Given the description of an element on the screen output the (x, y) to click on. 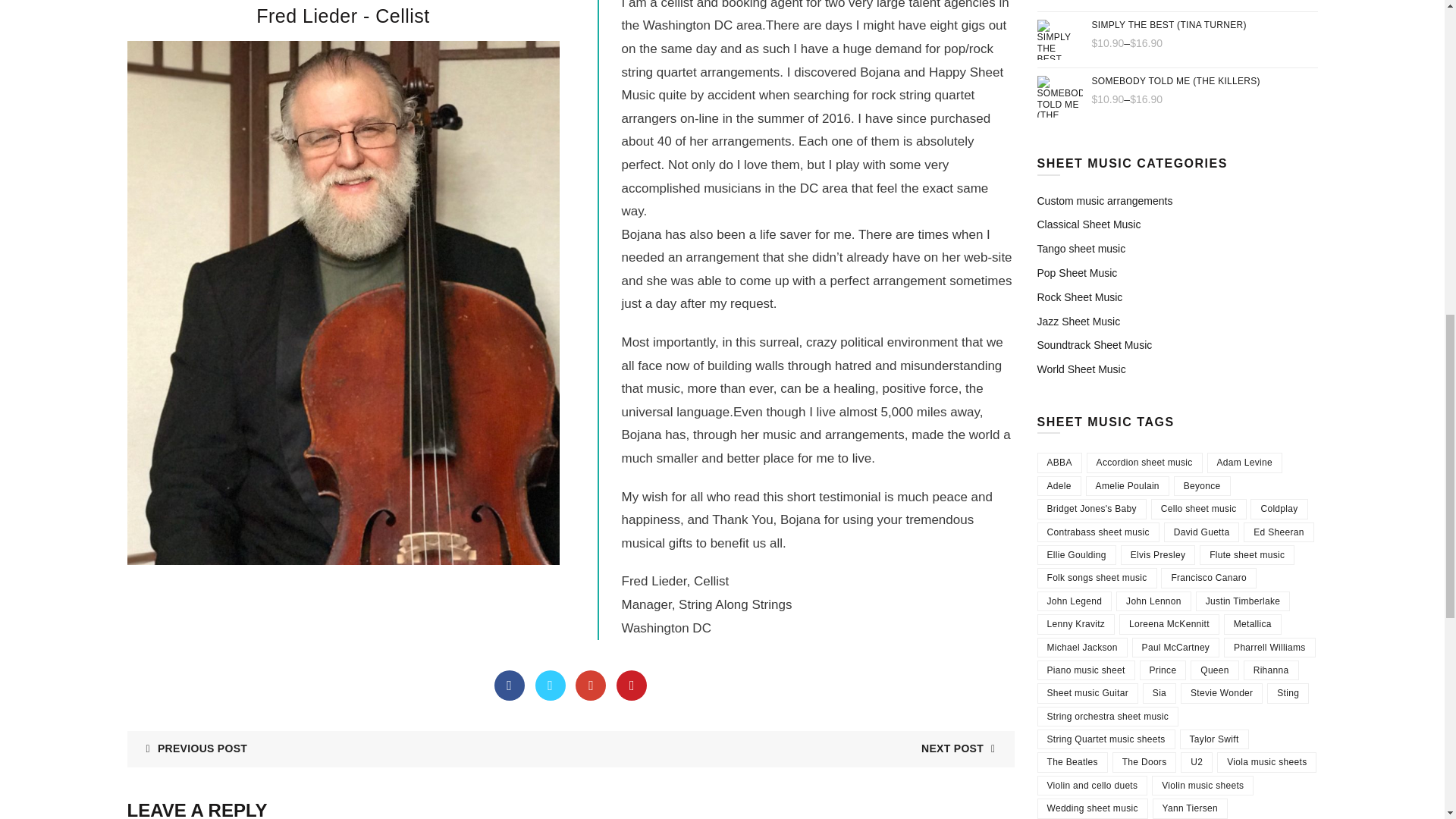
8 topics (1058, 485)
4 topics (1058, 462)
5 topics (1127, 485)
4 topics (1244, 462)
19 topics (1144, 462)
4 topics (1201, 485)
